Given the description of an element on the screen output the (x, y) to click on. 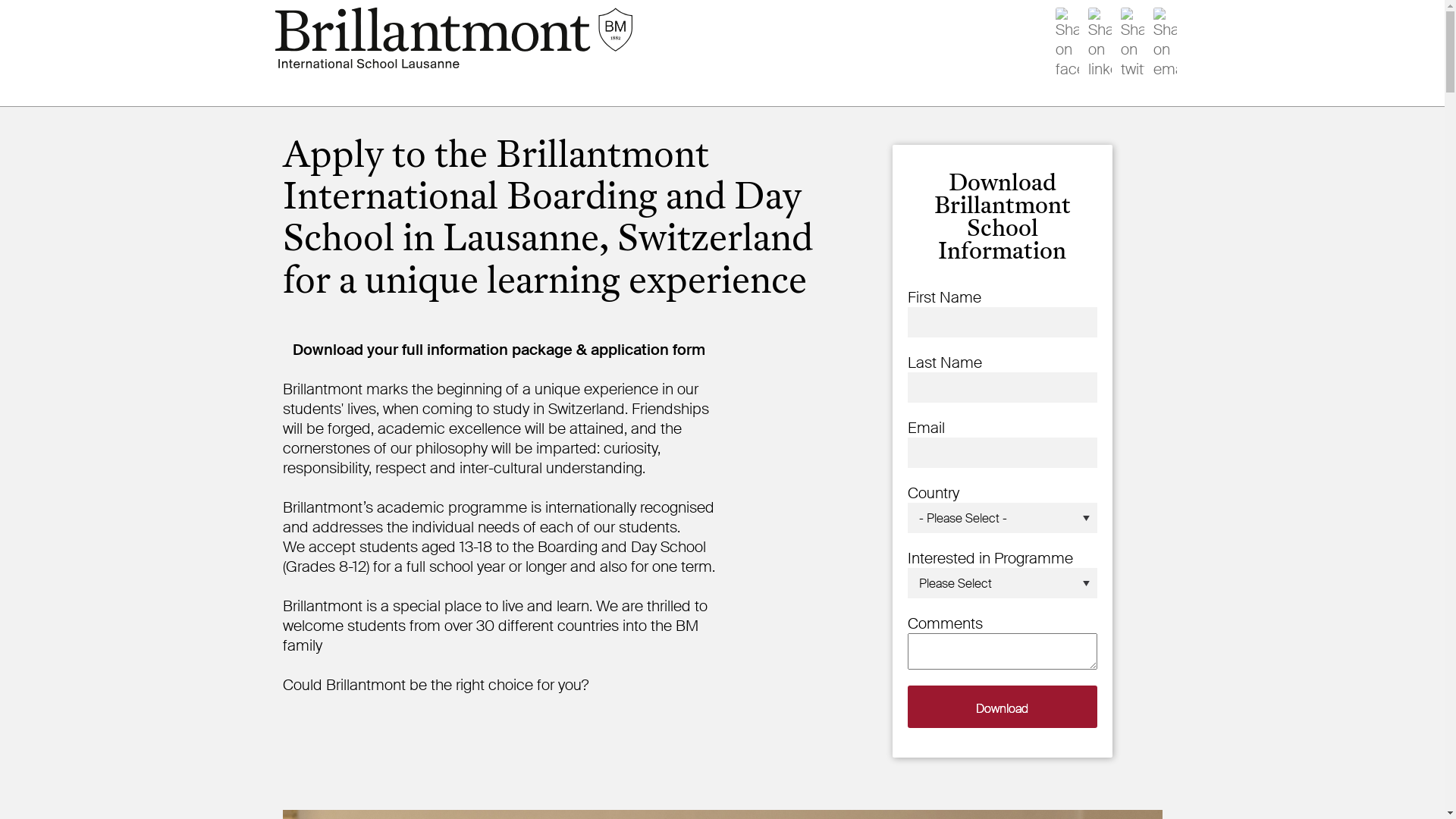
Brillantmont-Logo Element type: hover (452, 37)
Download Element type: text (1001, 706)
